Given the description of an element on the screen output the (x, y) to click on. 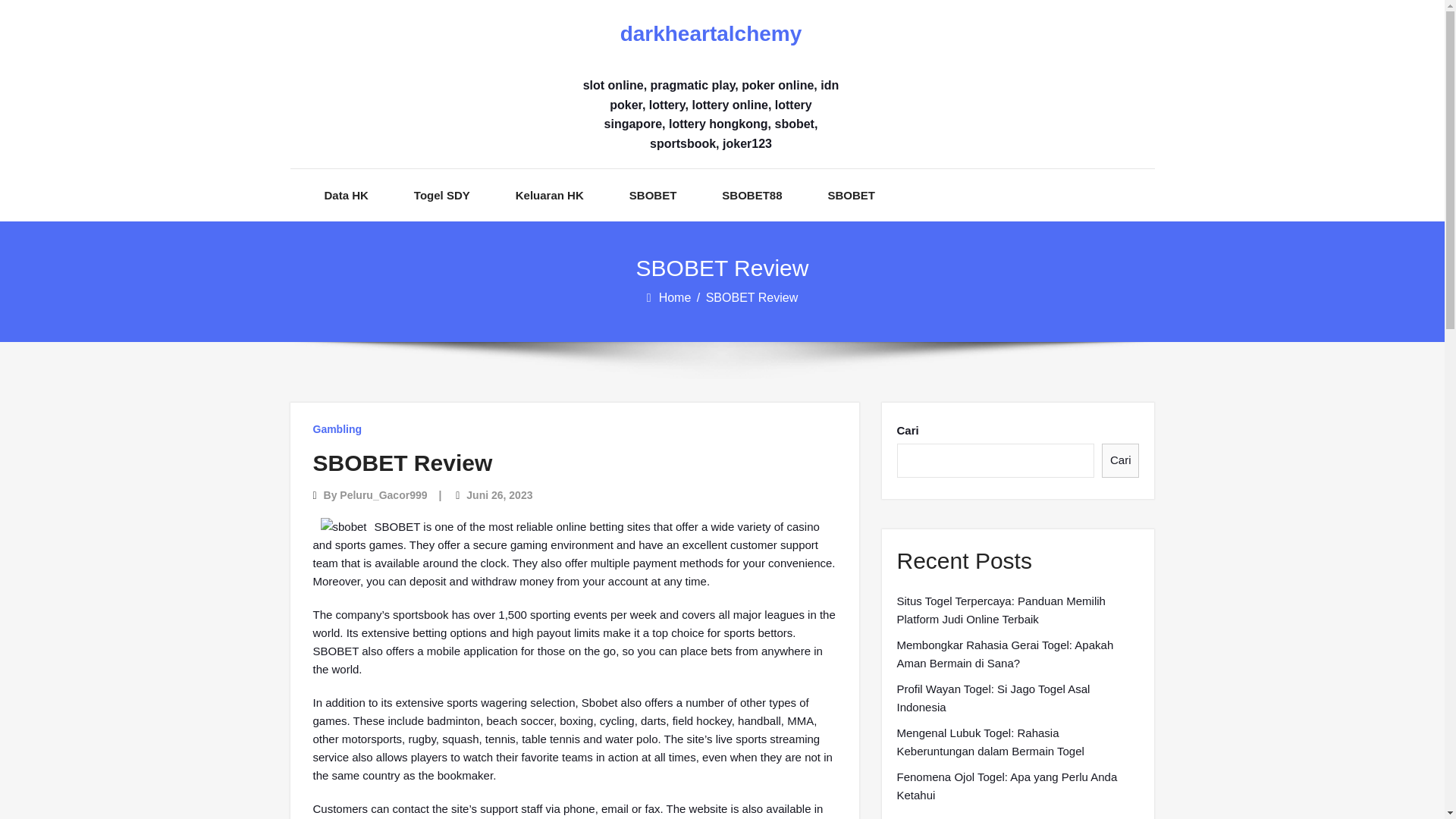
SBOBET (652, 194)
Togel SDY (441, 194)
Cari (1121, 460)
Fenomena Ojol Togel: Apa yang Perlu Anda Ketahui (1017, 786)
darkheartalchemy (710, 34)
SBOBET (852, 194)
Home (676, 297)
Gambling (337, 428)
Membongkar Rahasia Gerai Togel: Apakah Aman Bermain di Sana? (1017, 654)
